Given the description of an element on the screen output the (x, y) to click on. 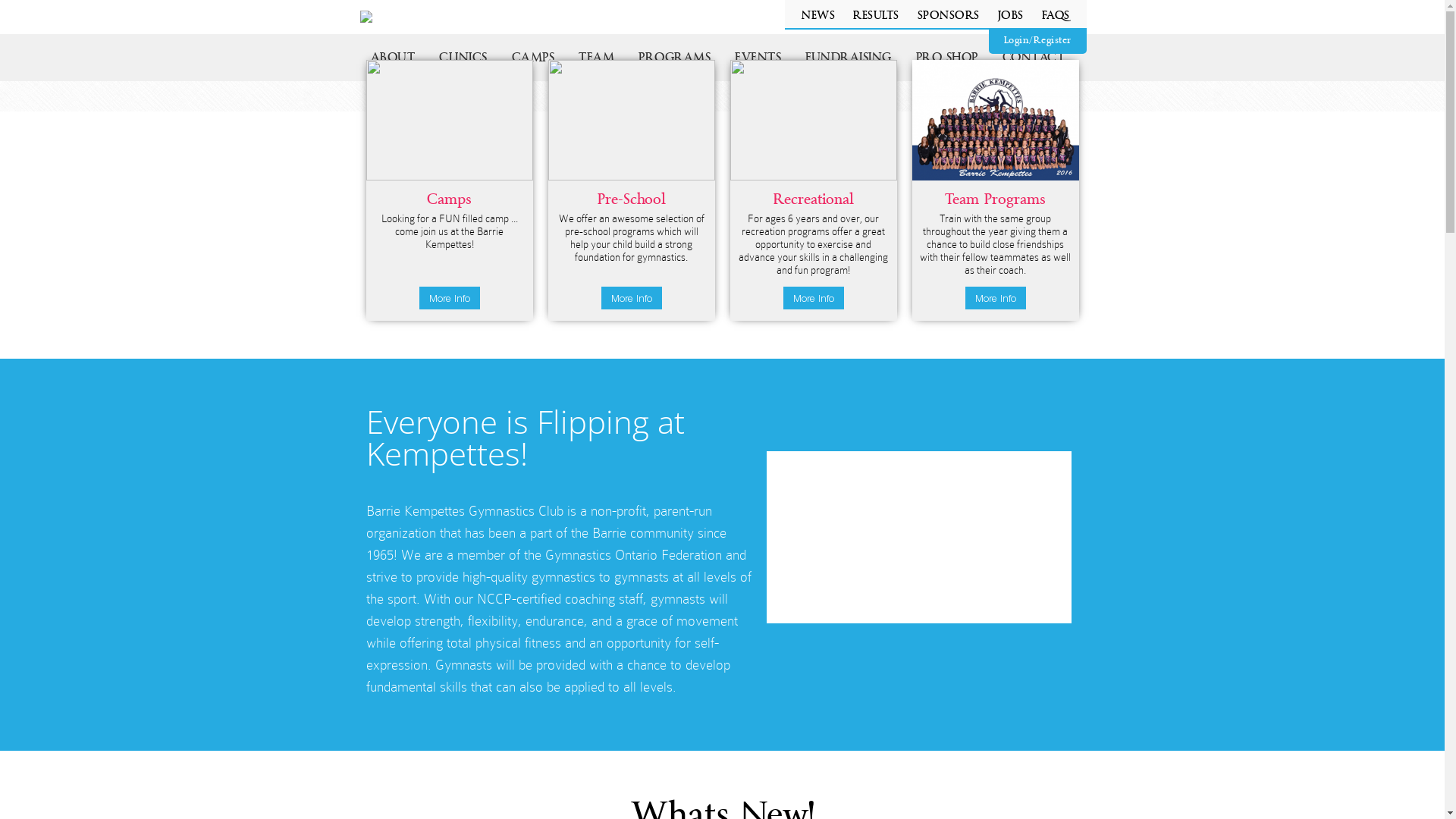
Team Programs Element type: text (994, 199)
RESULTS Element type: text (876, 15)
JOBS Element type: text (1010, 15)
More Info Element type: text (812, 297)
More Info Element type: text (630, 297)
CAMPS Element type: text (532, 57)
SPONSORS Element type: text (948, 15)
CLINICS Element type: text (462, 57)
More Info Element type: text (448, 297)
PRO SHOP Element type: text (946, 57)
NEWS Element type: text (817, 15)
YouTube video player Element type: hover (917, 537)
FAQS Element type: text (1055, 15)
Recreational Element type: text (813, 199)
PROGRAMS Element type: text (674, 57)
EVENTS Element type: text (757, 57)
Camps Element type: text (448, 199)
ABOUT Element type: text (391, 57)
TEAM Element type: text (596, 57)
FUNDRAISING Element type: text (848, 57)
Login/Register Element type: text (1037, 40)
Pre-School Element type: text (631, 199)
CONTACT Element type: text (1033, 57)
More Info Element type: text (994, 297)
